Given the description of an element on the screen output the (x, y) to click on. 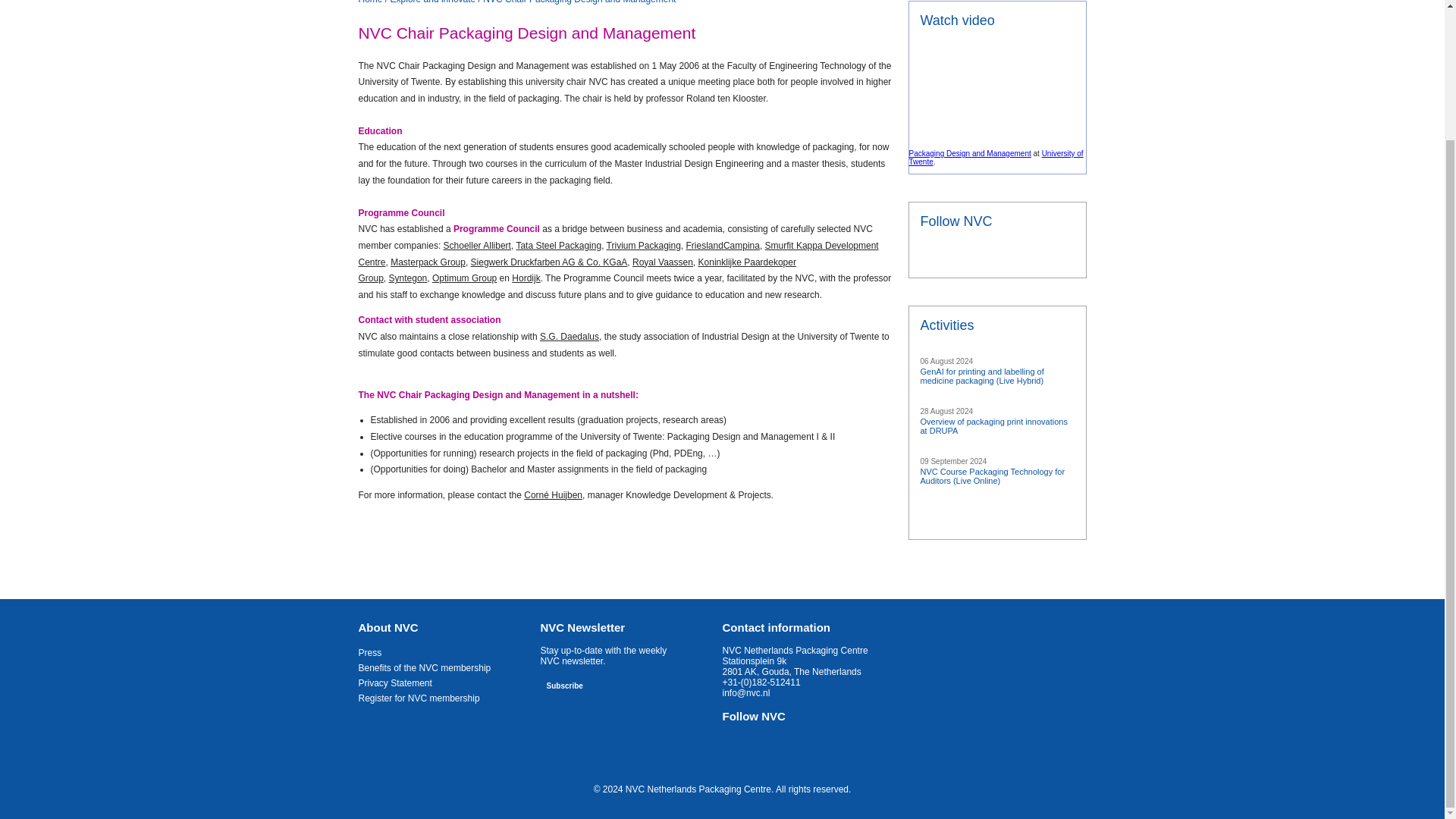
Smurfit Kappa Development Centre (617, 253)
Royal Vaassen (662, 262)
Explore and innovate (433, 2)
Schoeller Allibert (477, 245)
NVC Chair Packaging Design and Management (579, 2)
Trivium Packaging (644, 245)
Koninklijke Paardekoper Group (576, 270)
Hordijk (526, 277)
Tata Steel Packaging (558, 245)
Home (369, 2)
FrieslandCampina (722, 245)
Syntegon (408, 277)
Masterpack Group (427, 262)
Optimum Group (464, 277)
S.G. Daedalus (569, 336)
